Given the description of an element on the screen output the (x, y) to click on. 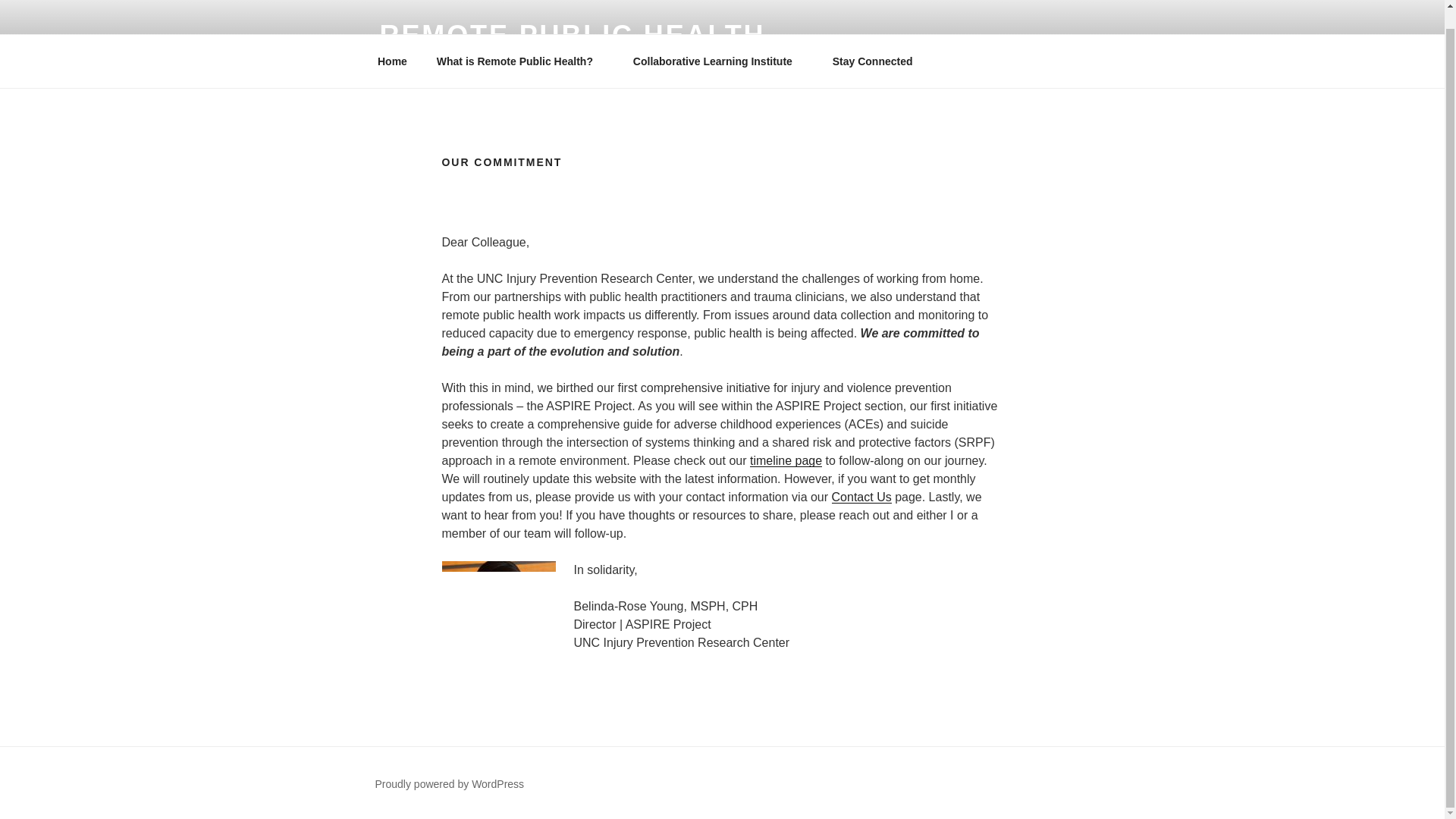
timeline page (785, 460)
Contact Us (861, 496)
Stay Connected (872, 60)
Home (392, 60)
What is Remote Public Health? (519, 60)
REMOTE PUBLIC HEALTH (571, 34)
Proudly powered by WordPress (449, 784)
Collaborative Learning Institute (717, 60)
